Given the description of an element on the screen output the (x, y) to click on. 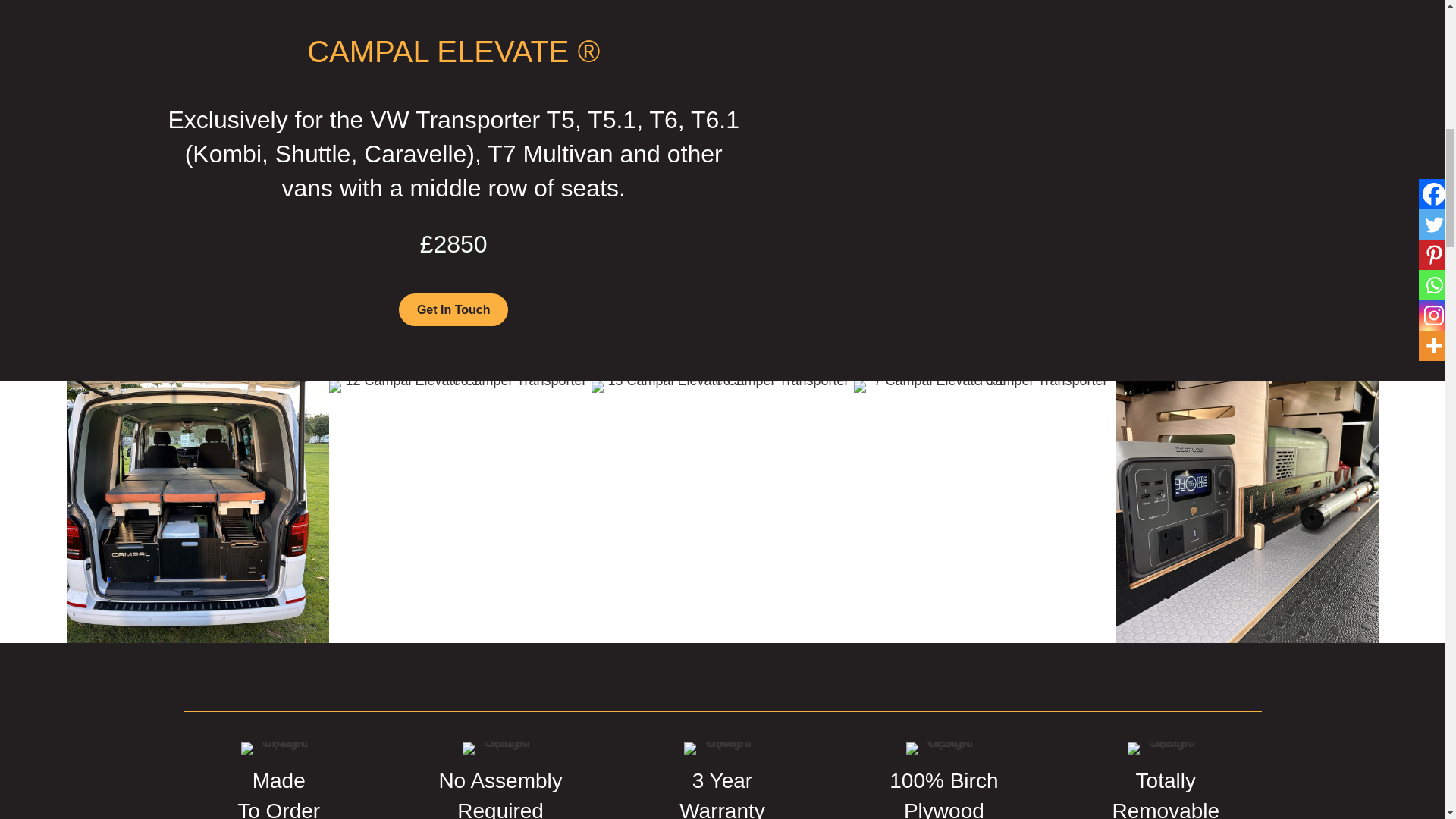
15 Campal Elevate Camper Transporter T6.1 (197, 511)
Get In Touch (454, 309)
7 Campal Elevate Camper Transporter T6.1 (984, 386)
2 Campal Elevate Camper Transporter T6.1 (1247, 511)
12 Campal Elevate Camper Transporter T6.1 (460, 511)
YouTube video player (989, 175)
13 Campal Elevate Camper Transporter T6.1 (722, 386)
